Given the description of an element on the screen output the (x, y) to click on. 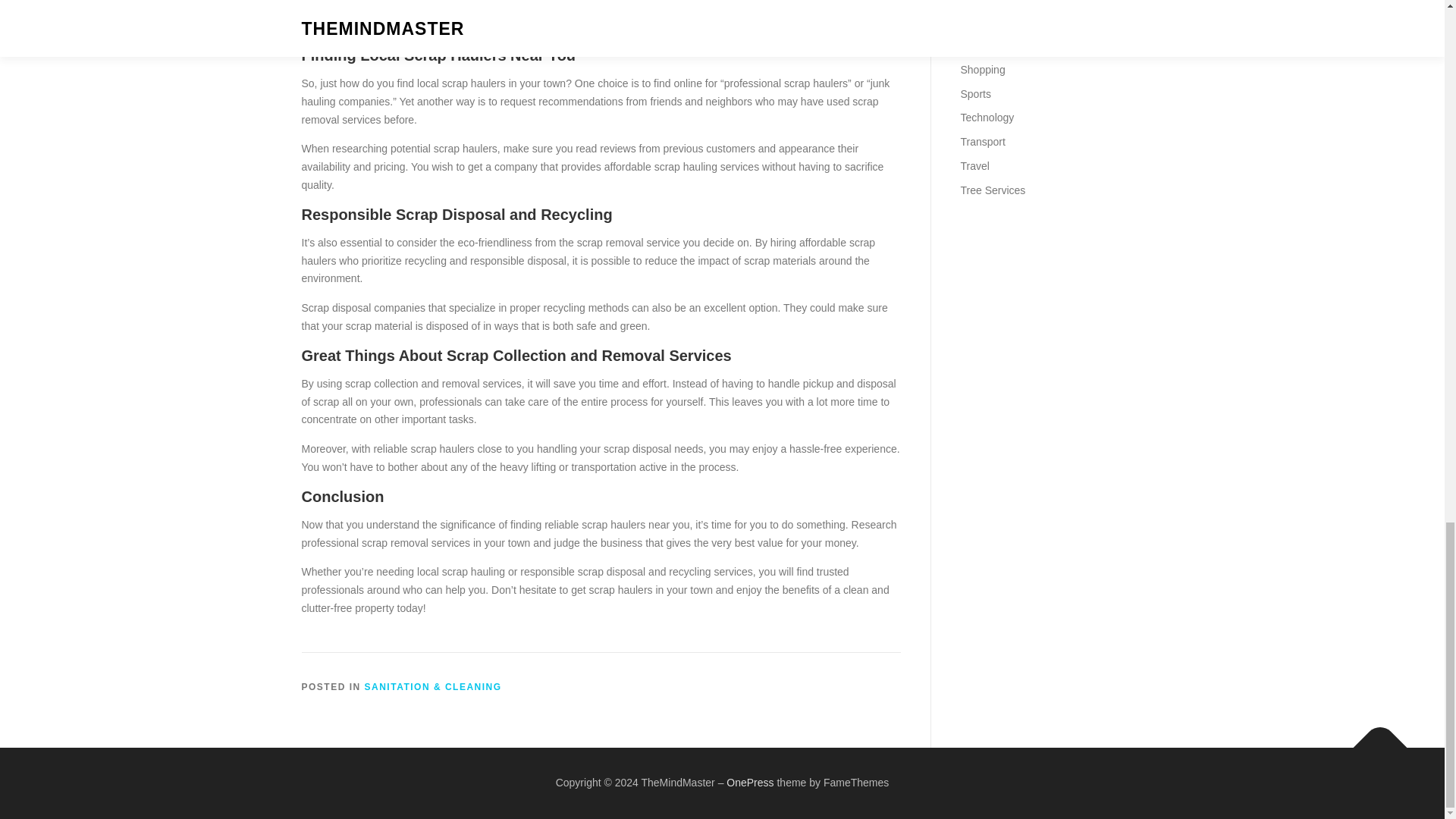
Back To Top (1372, 740)
